Given the description of an element on the screen output the (x, y) to click on. 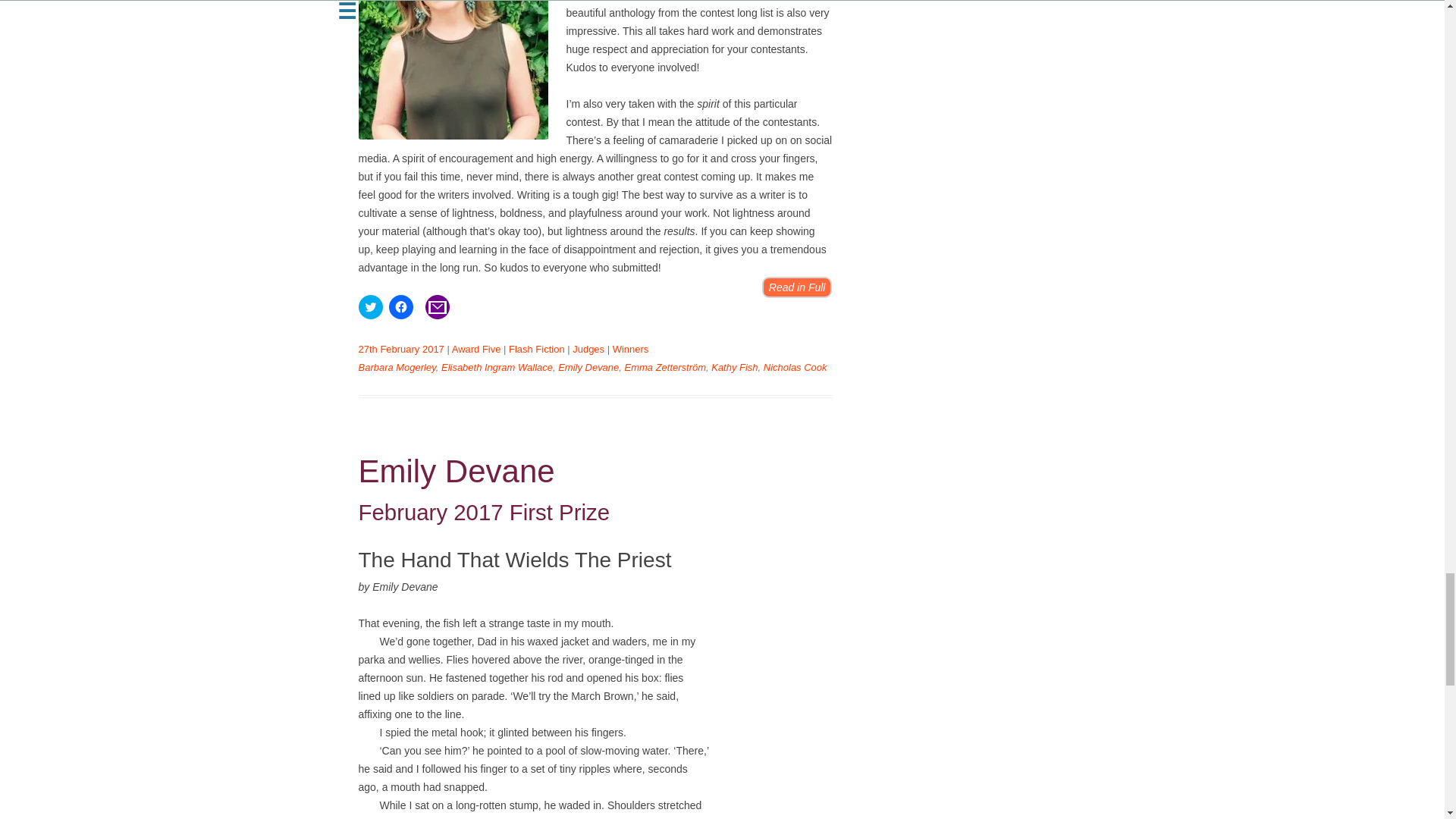
Click to share by email (436, 306)
Click to share on Twitter (369, 306)
2:25 pm (401, 348)
Click to share on Facebook (400, 306)
